Given the description of an element on the screen output the (x, y) to click on. 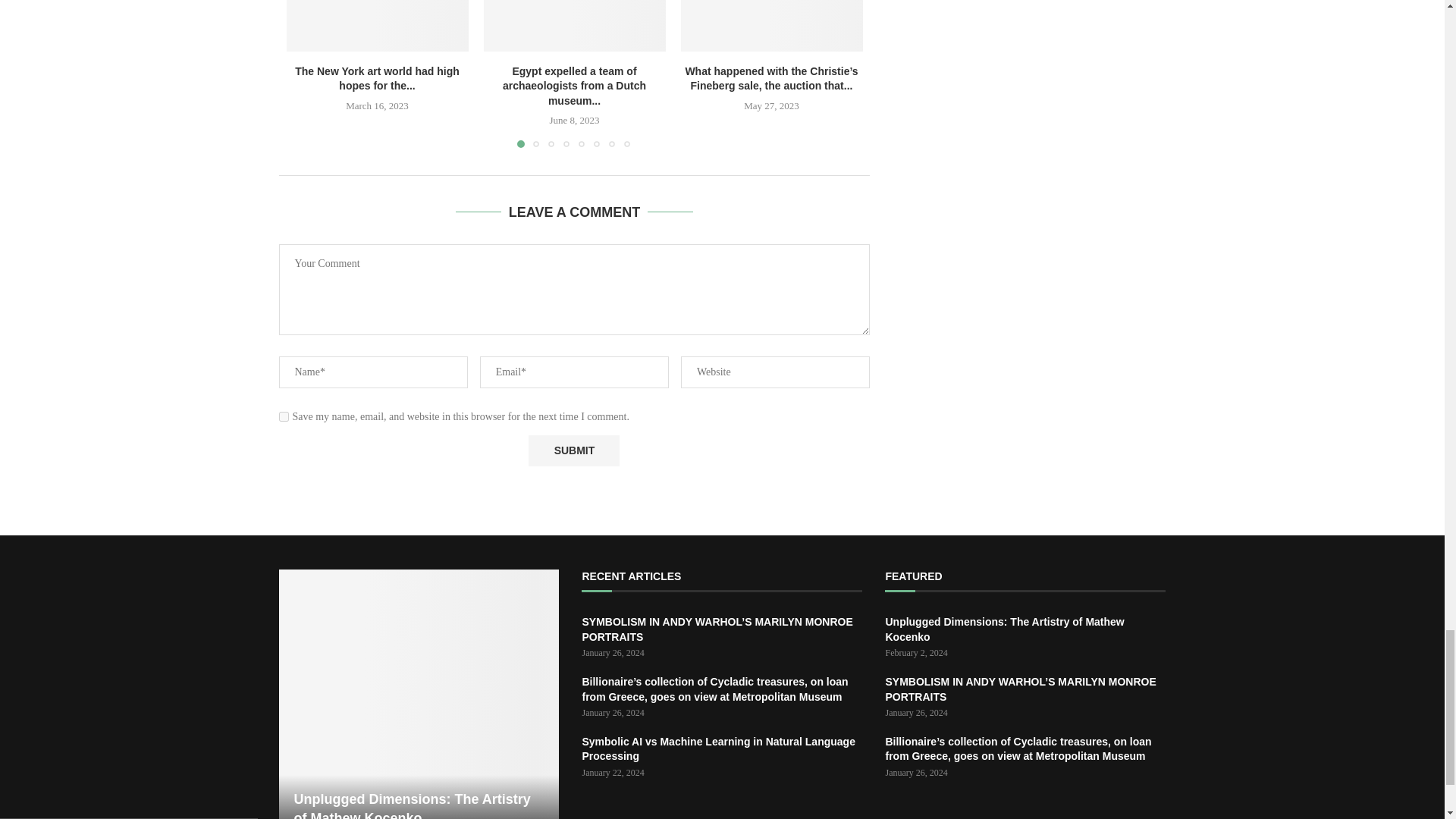
yes (283, 416)
Submit (574, 450)
